Given the description of an element on the screen output the (x, y) to click on. 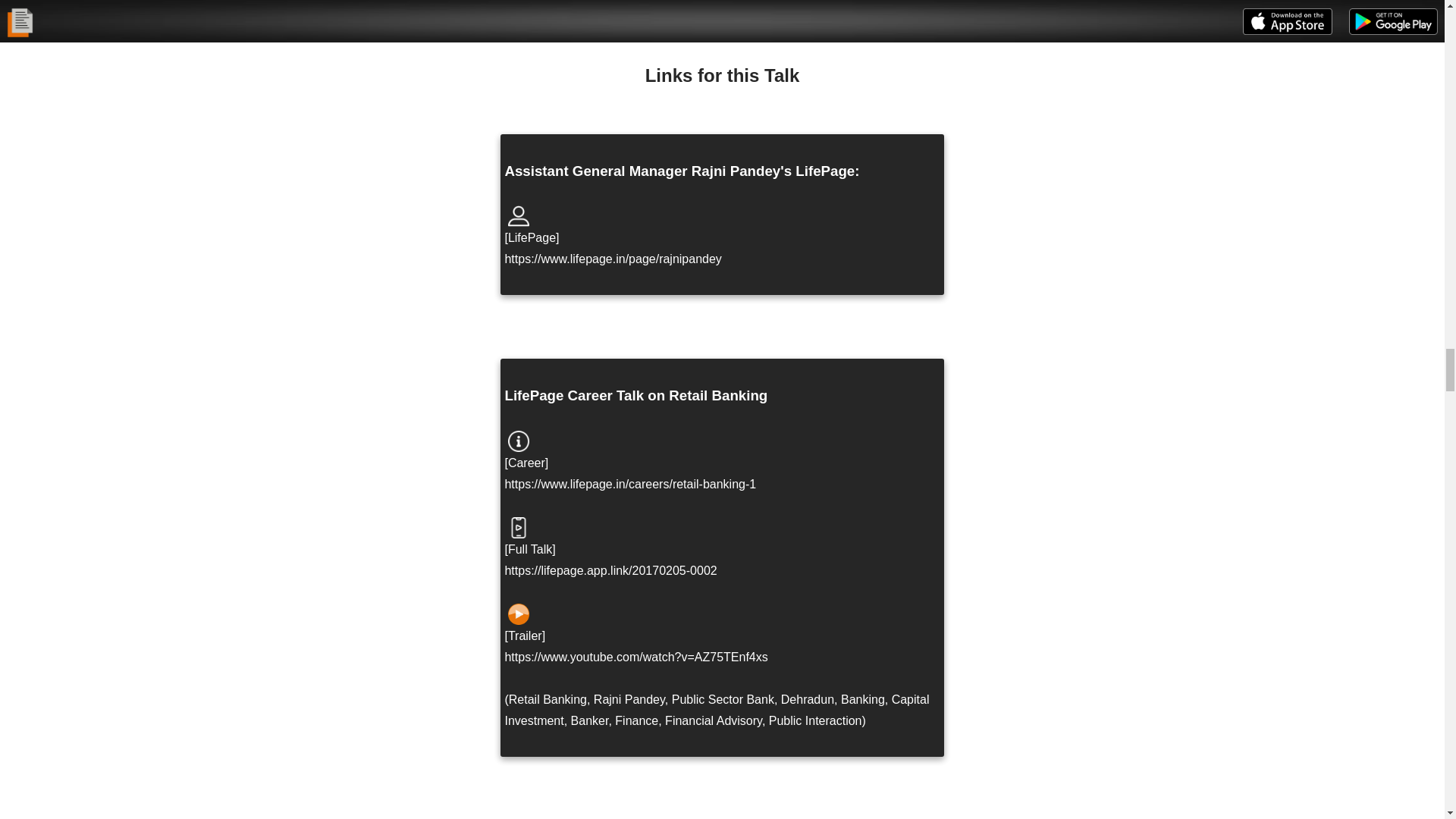
Career Counselling 2.0 (517, 527)
Career Counselling 2.0 (517, 215)
Career Counselling 2.0 (517, 613)
Career Counselling 2.0 (517, 440)
